Given the description of an element on the screen output the (x, y) to click on. 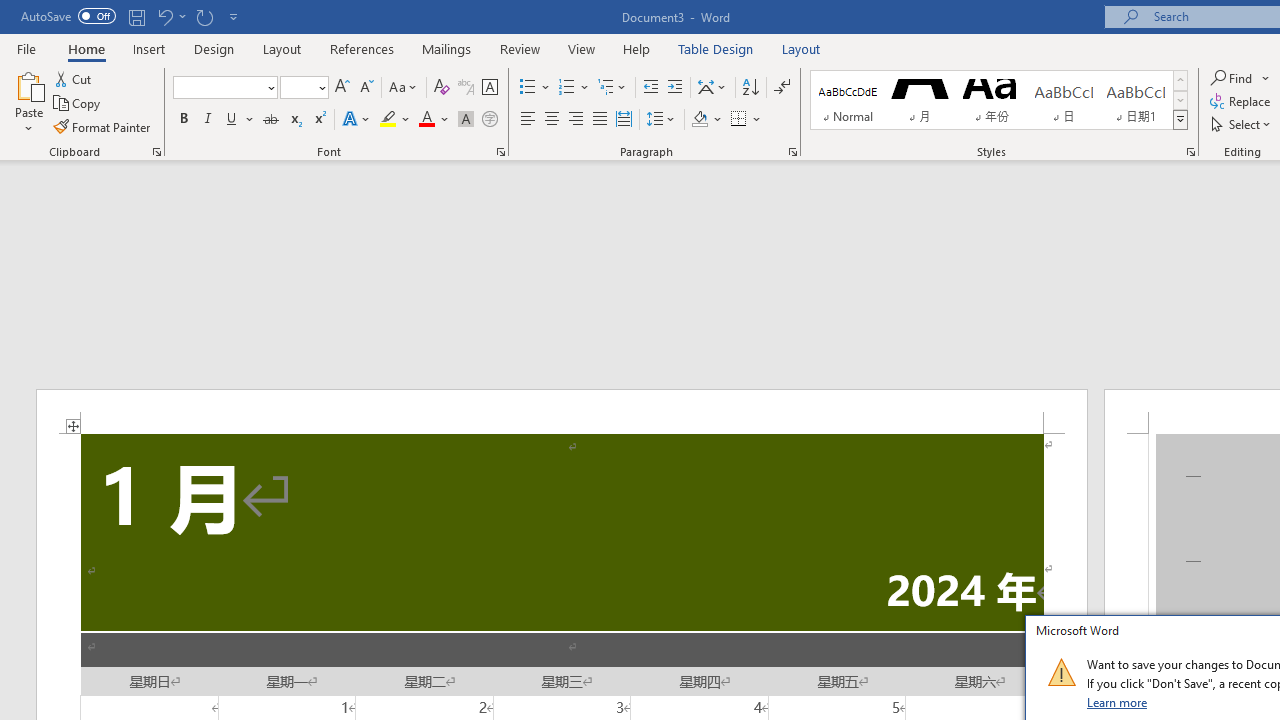
Shading RGB(0, 0, 0) (699, 119)
Font (218, 87)
Text Highlight Color (395, 119)
Align Left (527, 119)
System (10, 11)
Underline (232, 119)
Text Highlight Color Yellow (388, 119)
Change Case (404, 87)
Strikethrough (270, 119)
Find (1233, 78)
File Tab (26, 48)
Character Shading (465, 119)
Clear Formatting (442, 87)
